Given the description of an element on the screen output the (x, y) to click on. 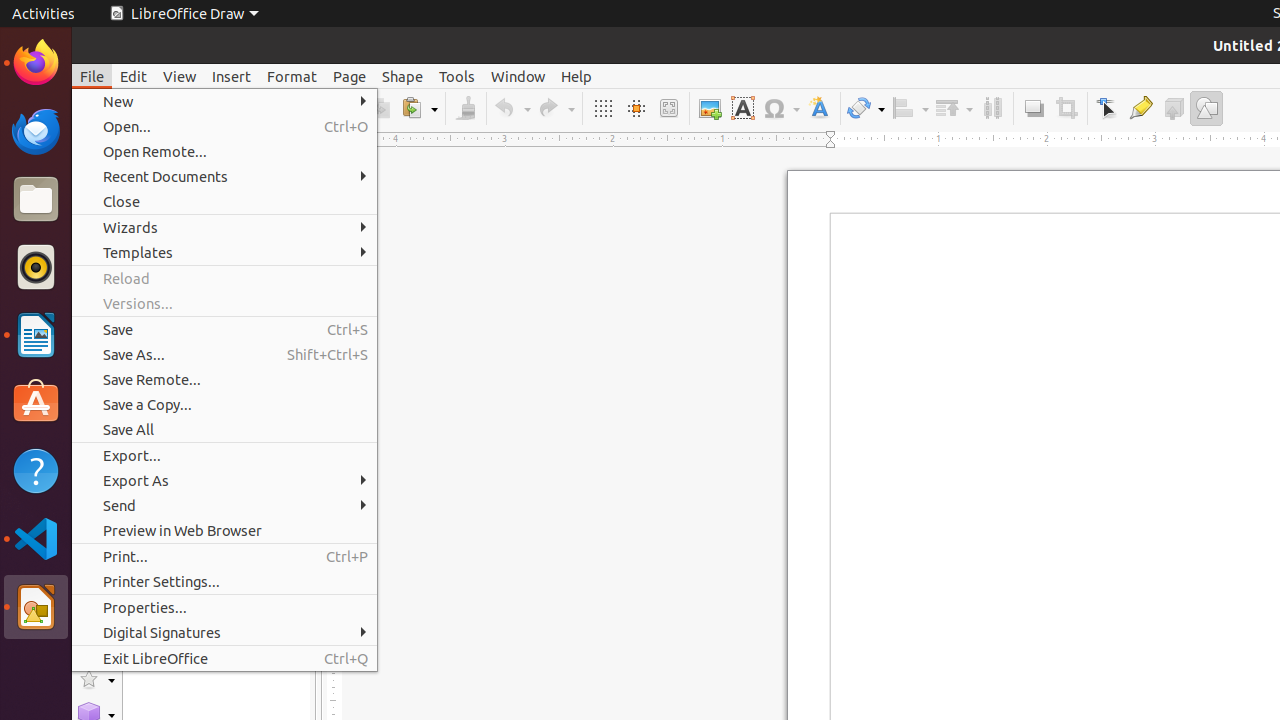
Edit Element type: menu (133, 76)
Save As... Element type: menu-item (224, 354)
Text Box Element type: push-button (742, 108)
Send Element type: menu (224, 505)
Print... Element type: menu-item (224, 556)
